Given the description of an element on the screen output the (x, y) to click on. 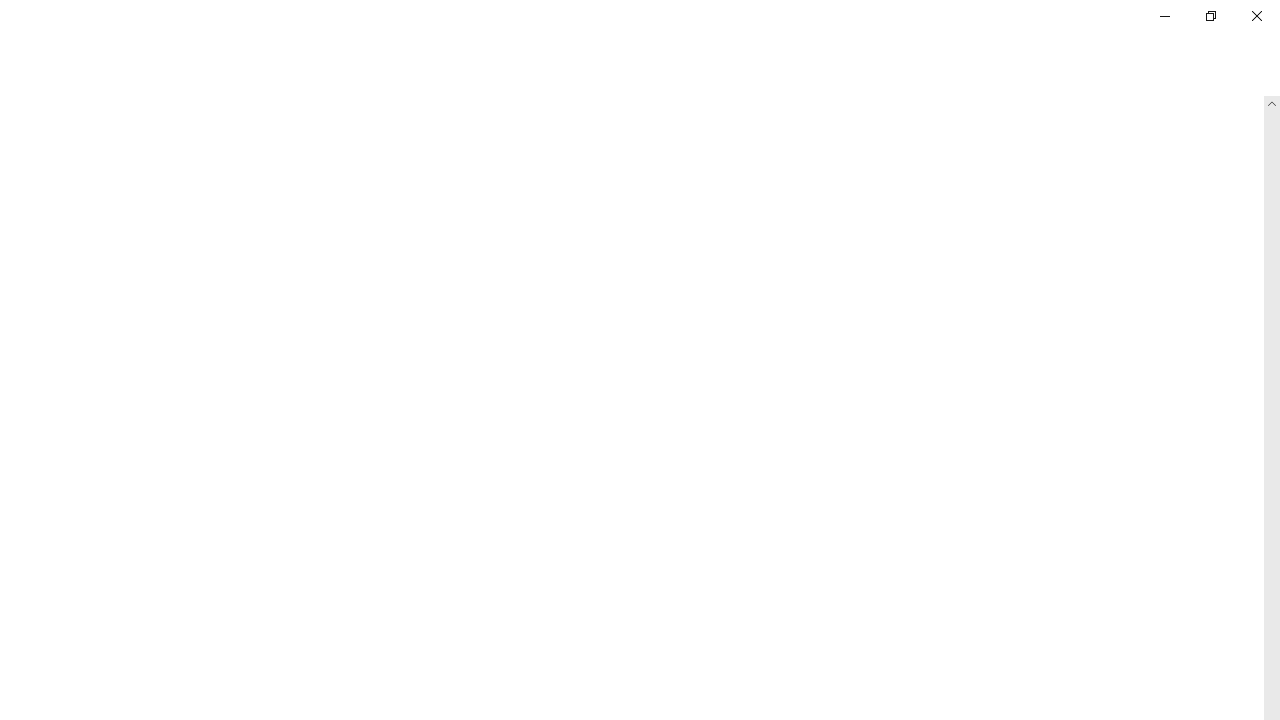
Vertical Small Decrease (1272, 103)
